Given the description of an element on the screen output the (x, y) to click on. 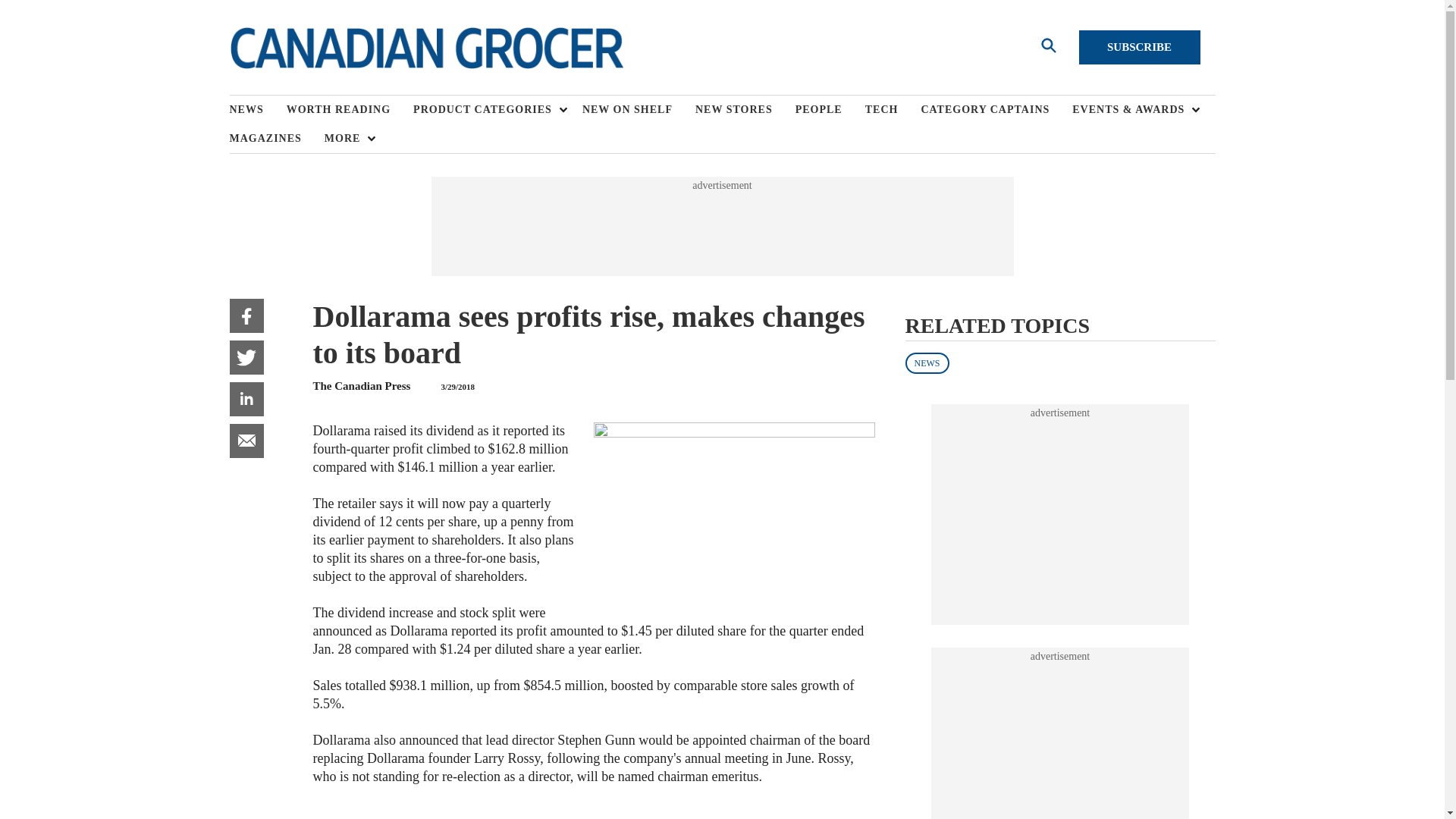
SUBSCRIBE (1138, 47)
facebook (245, 315)
facebook (245, 315)
twitter (245, 357)
3rd party ad content (721, 226)
NEW ON SHELF (638, 109)
NEWS (256, 109)
NEW STORES (744, 109)
PRODUCT CATEGORIES (486, 109)
3rd party ad content (1059, 514)
